Given the description of an element on the screen output the (x, y) to click on. 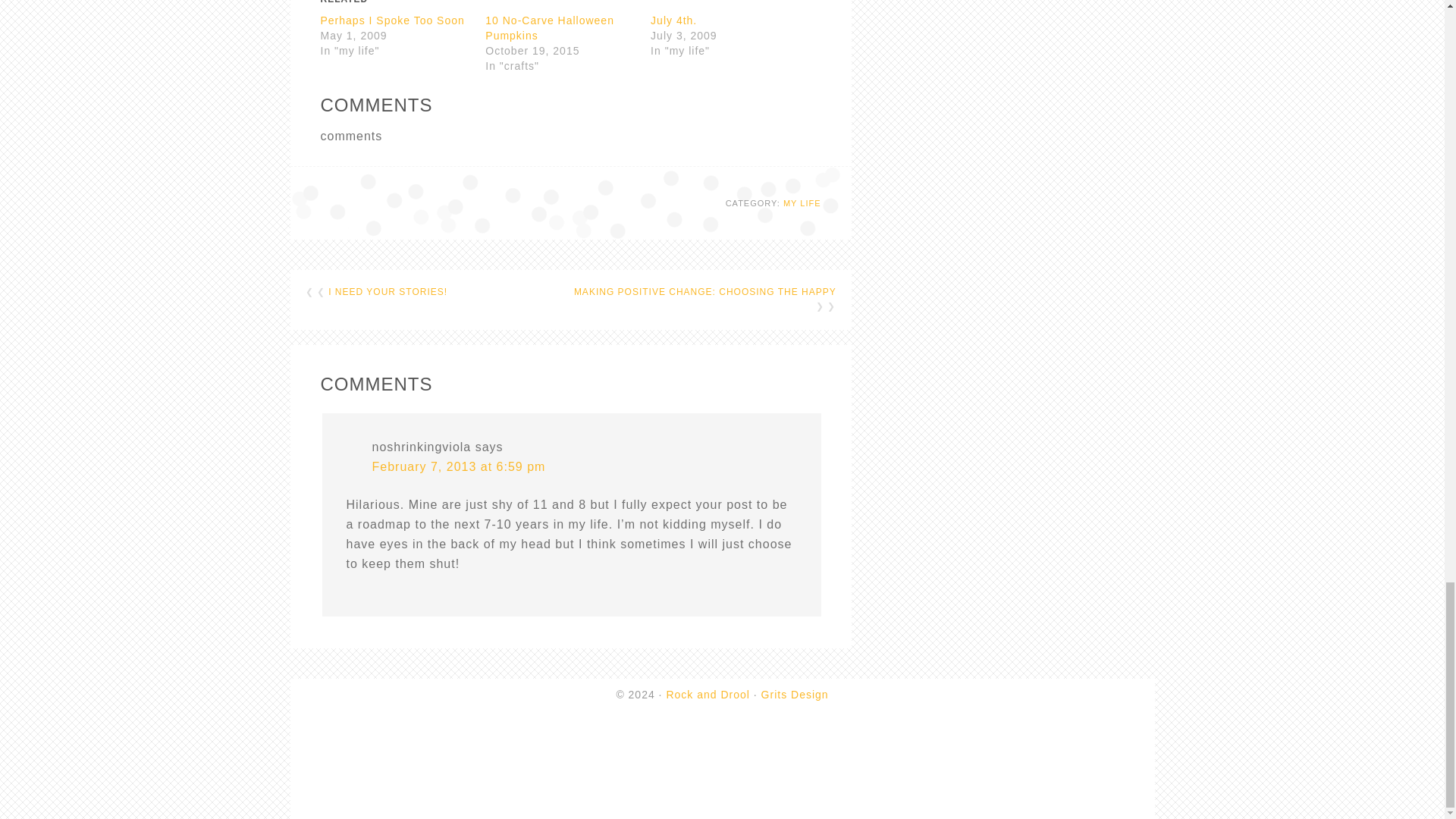
MAKING POSITIVE CHANGE: CHOOSING THE HAPPY (704, 291)
Perhaps I Spoke Too Soon (392, 20)
10 No-Carve Halloween Pumpkins (549, 27)
10 No-Carve Halloween Pumpkins (549, 27)
July 4th. (673, 20)
I NEED YOUR STORIES! (387, 291)
Perhaps I Spoke Too Soon (392, 20)
February 7, 2013 at 6:59 pm (457, 466)
MY LIFE (802, 203)
July 4th. (673, 20)
